Given the description of an element on the screen output the (x, y) to click on. 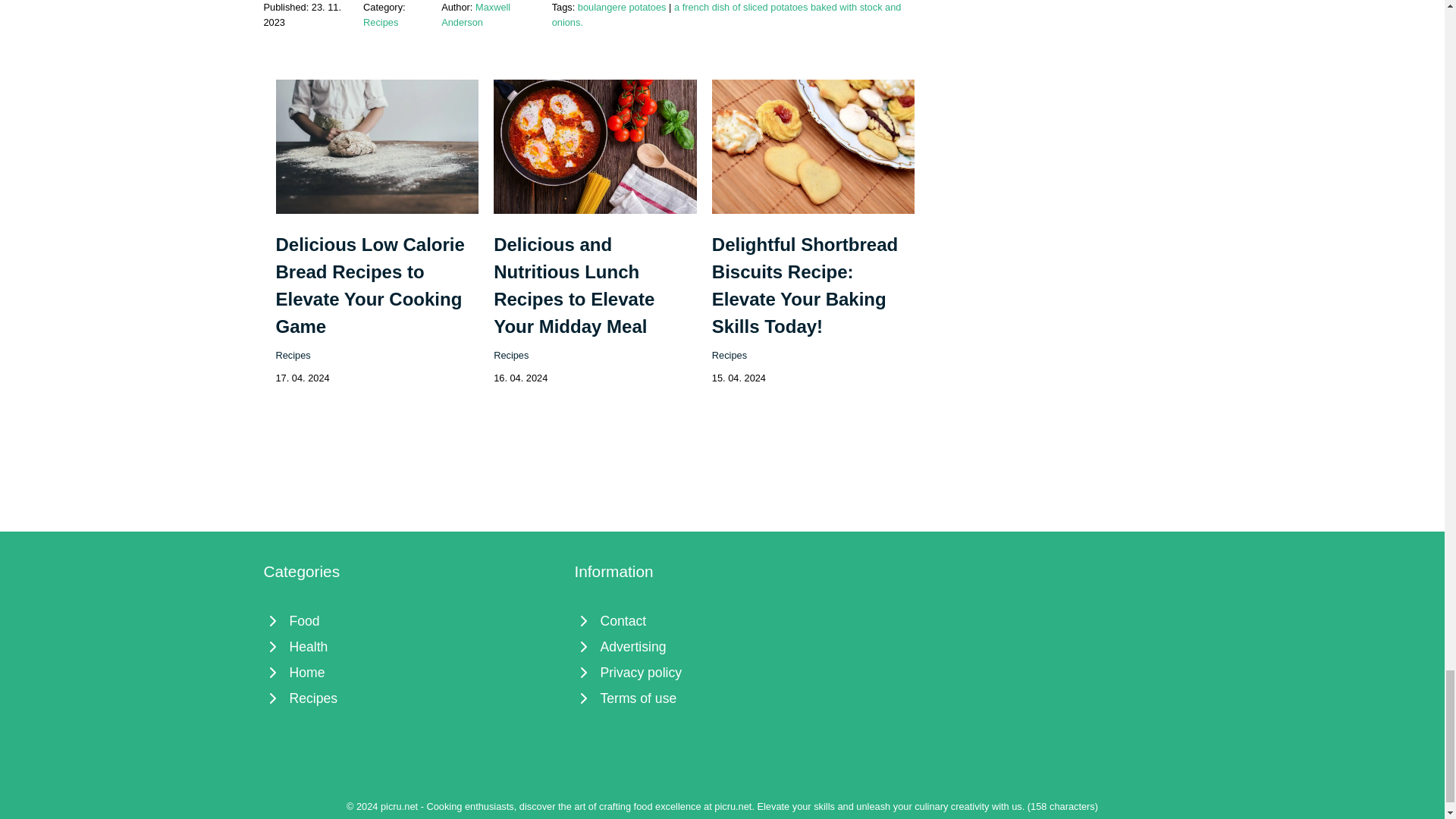
Health (411, 646)
Terms of use (722, 698)
Advertising (722, 646)
Food (411, 620)
boulangere potatoes (622, 7)
Privacy policy (722, 672)
Recipes (293, 354)
Recipes (379, 21)
